Given the description of an element on the screen output the (x, y) to click on. 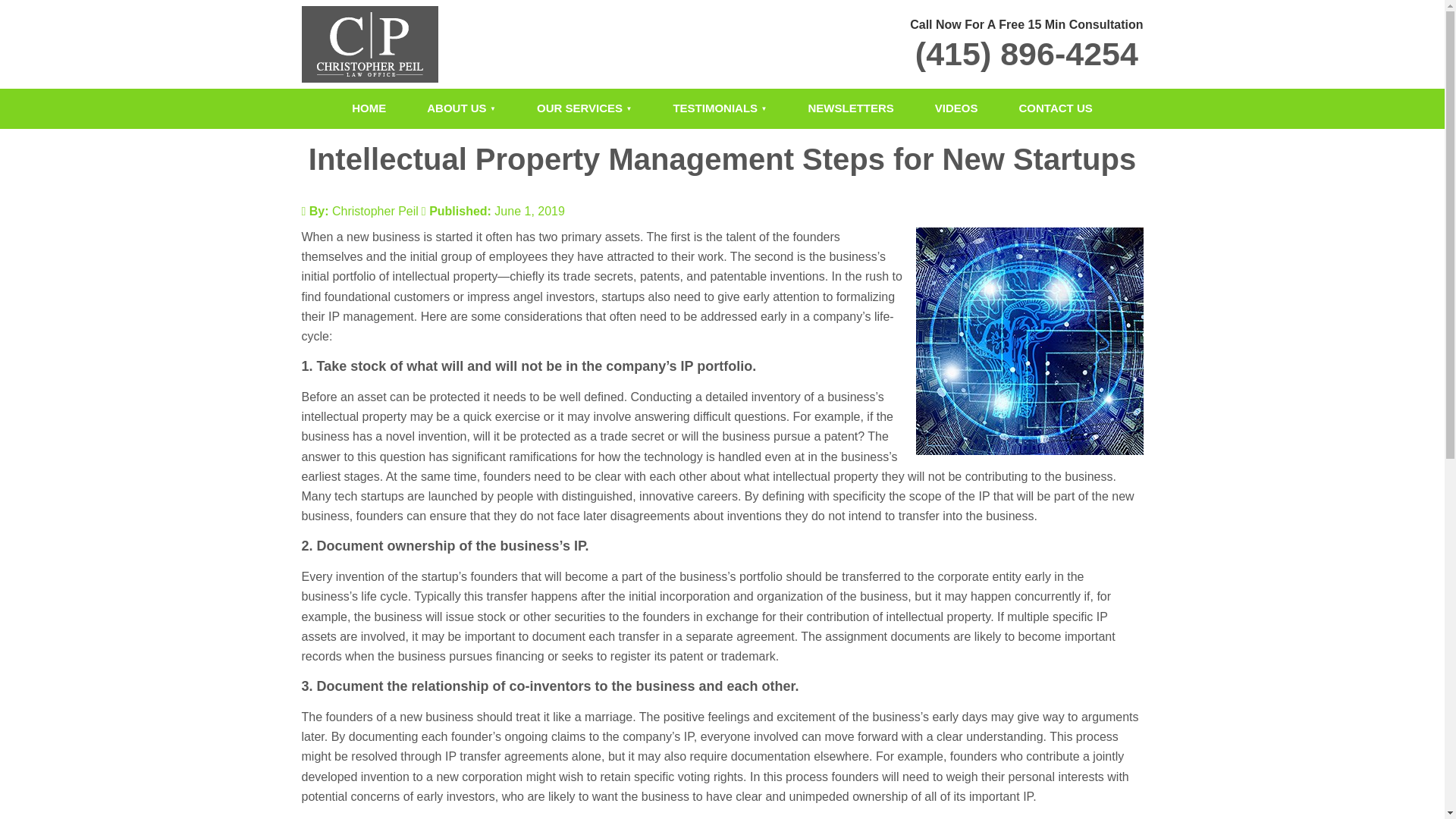
ABOUT US (461, 108)
CONTACT US (1055, 108)
HOME (368, 108)
NEWSLETTERS (850, 108)
TESTIMONIALS (719, 108)
OUR SERVICES (584, 108)
VIDEOS (956, 108)
